Given the description of an element on the screen output the (x, y) to click on. 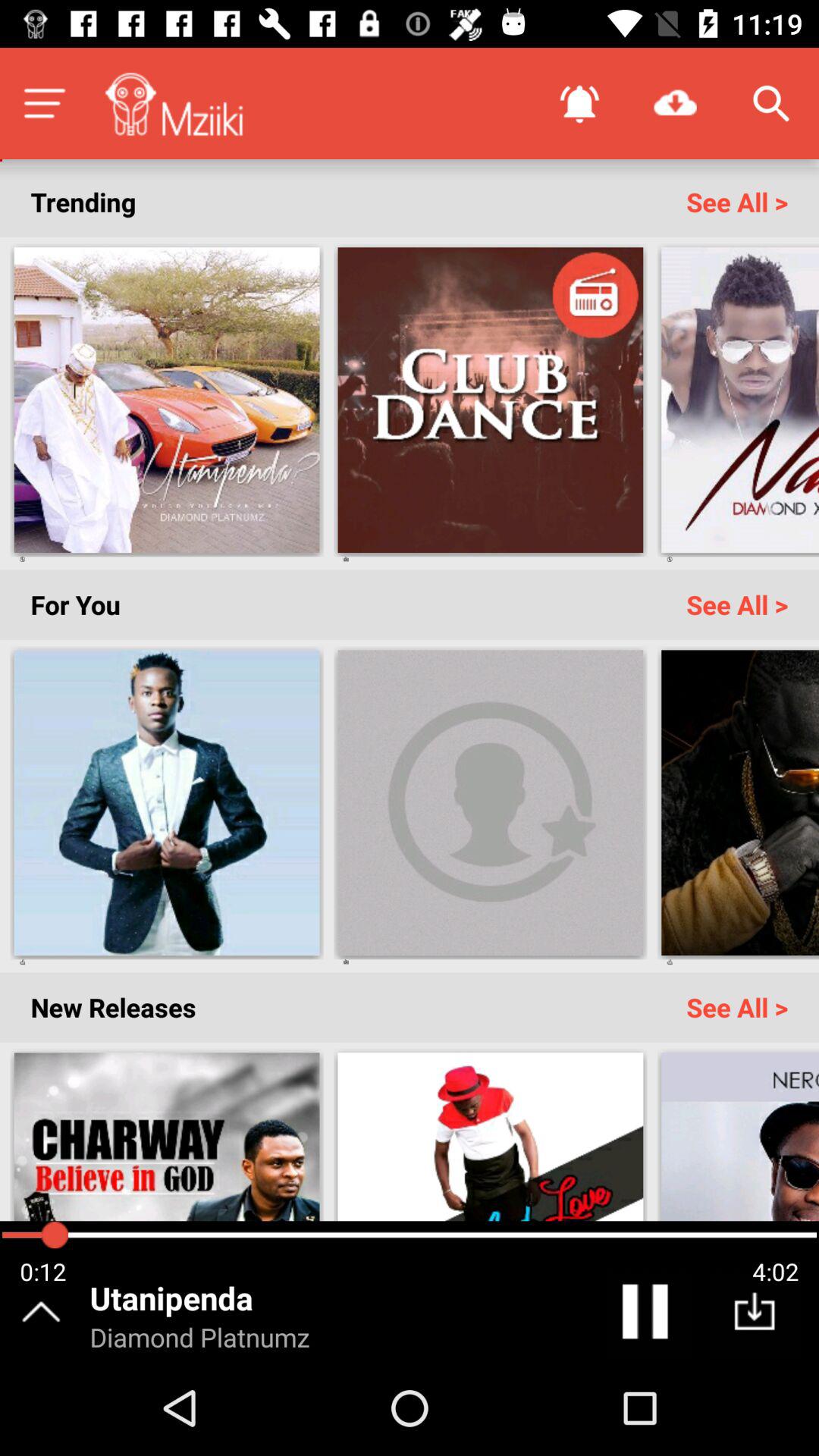
see the menu (44, 103)
